Given the description of an element on the screen output the (x, y) to click on. 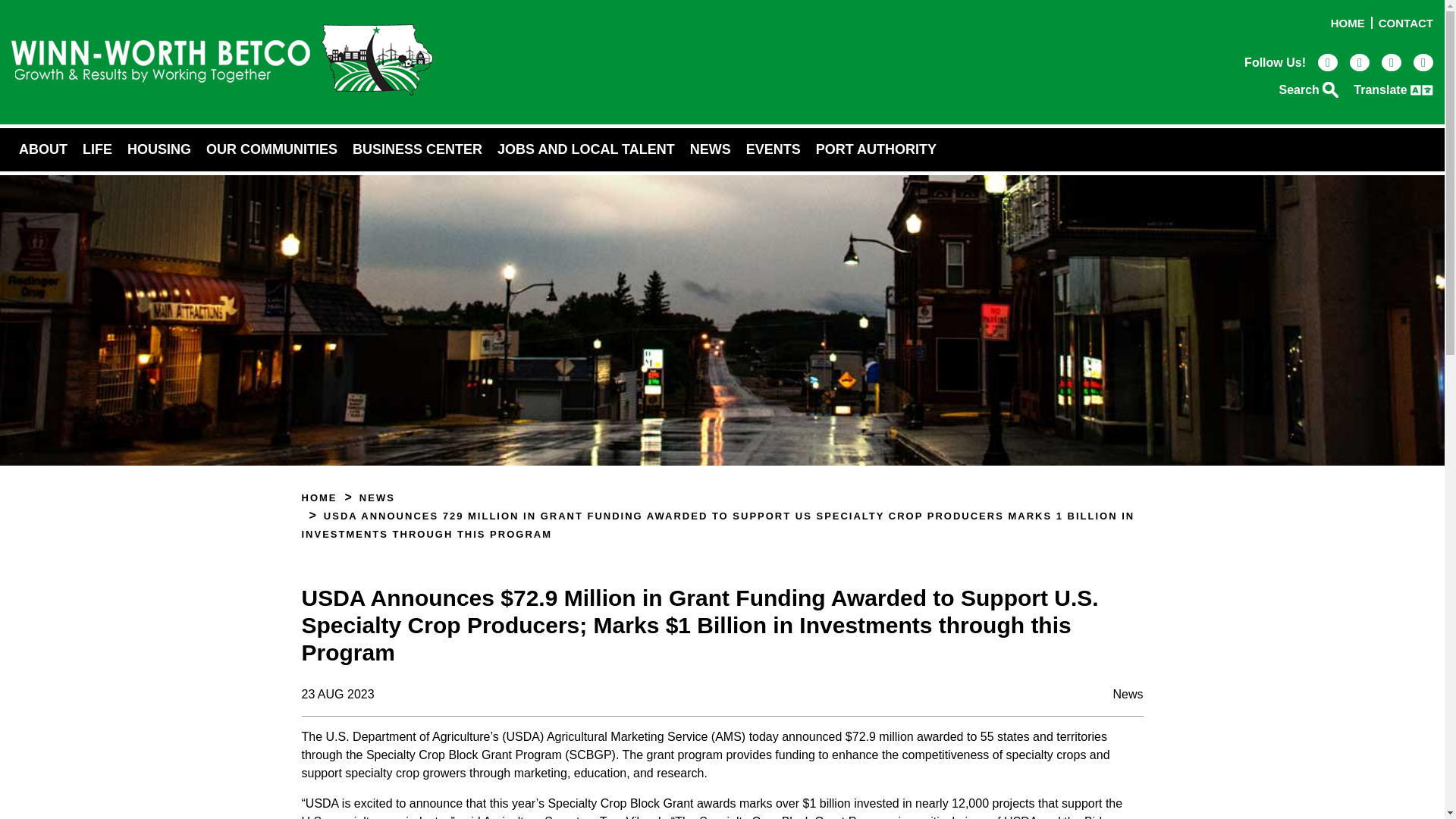
HOUSING (158, 148)
ABOUT (43, 148)
Instagram (1359, 61)
Twitter (1422, 61)
CONTACT (1405, 22)
Facebook (1327, 61)
LIFE (97, 148)
Linkedin (1390, 61)
HOME (1347, 22)
OUR COMMUNITIES (271, 148)
